Given the description of an element on the screen output the (x, y) to click on. 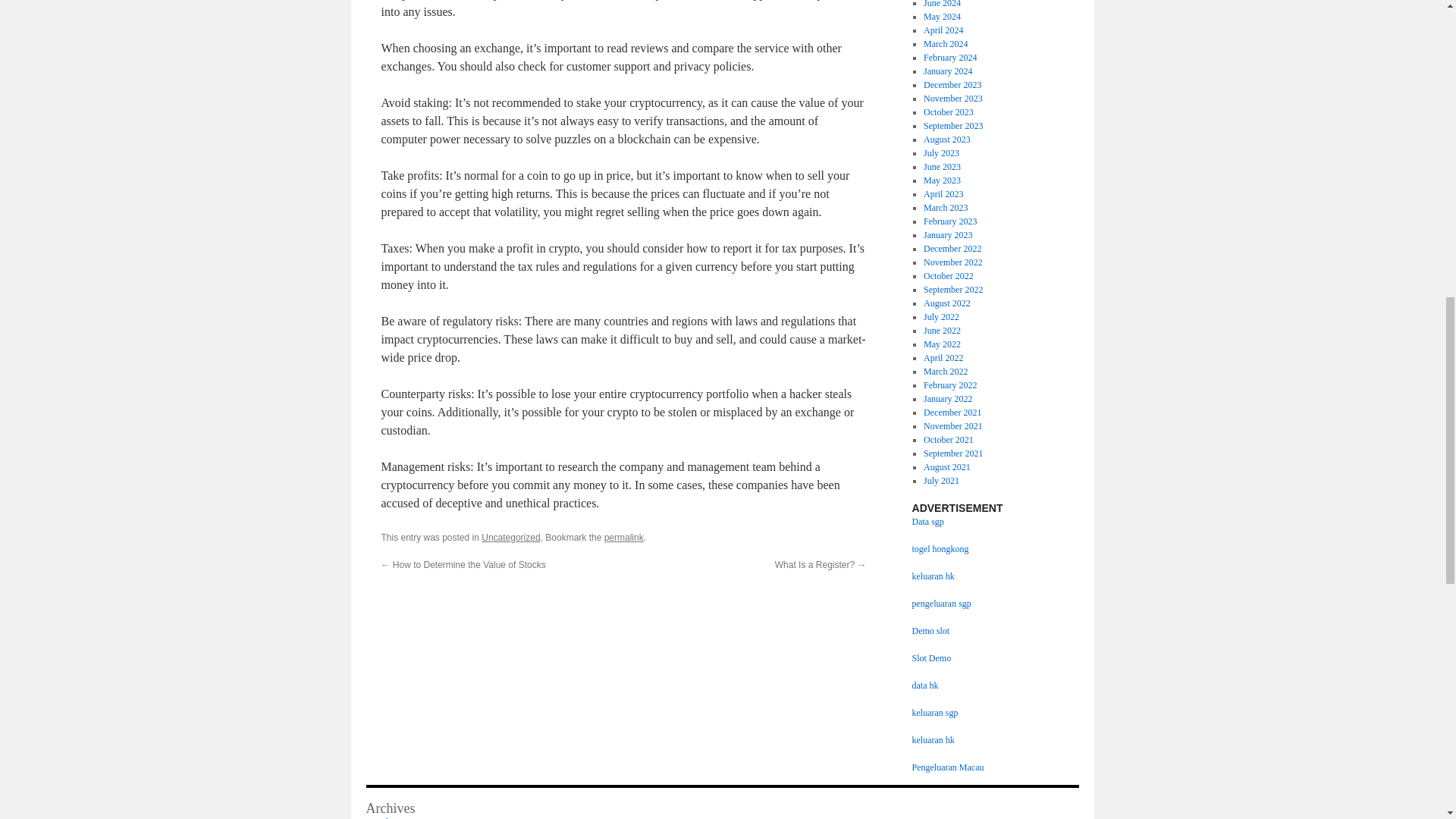
permalink (623, 537)
Uncategorized (510, 537)
